Given the description of an element on the screen output the (x, y) to click on. 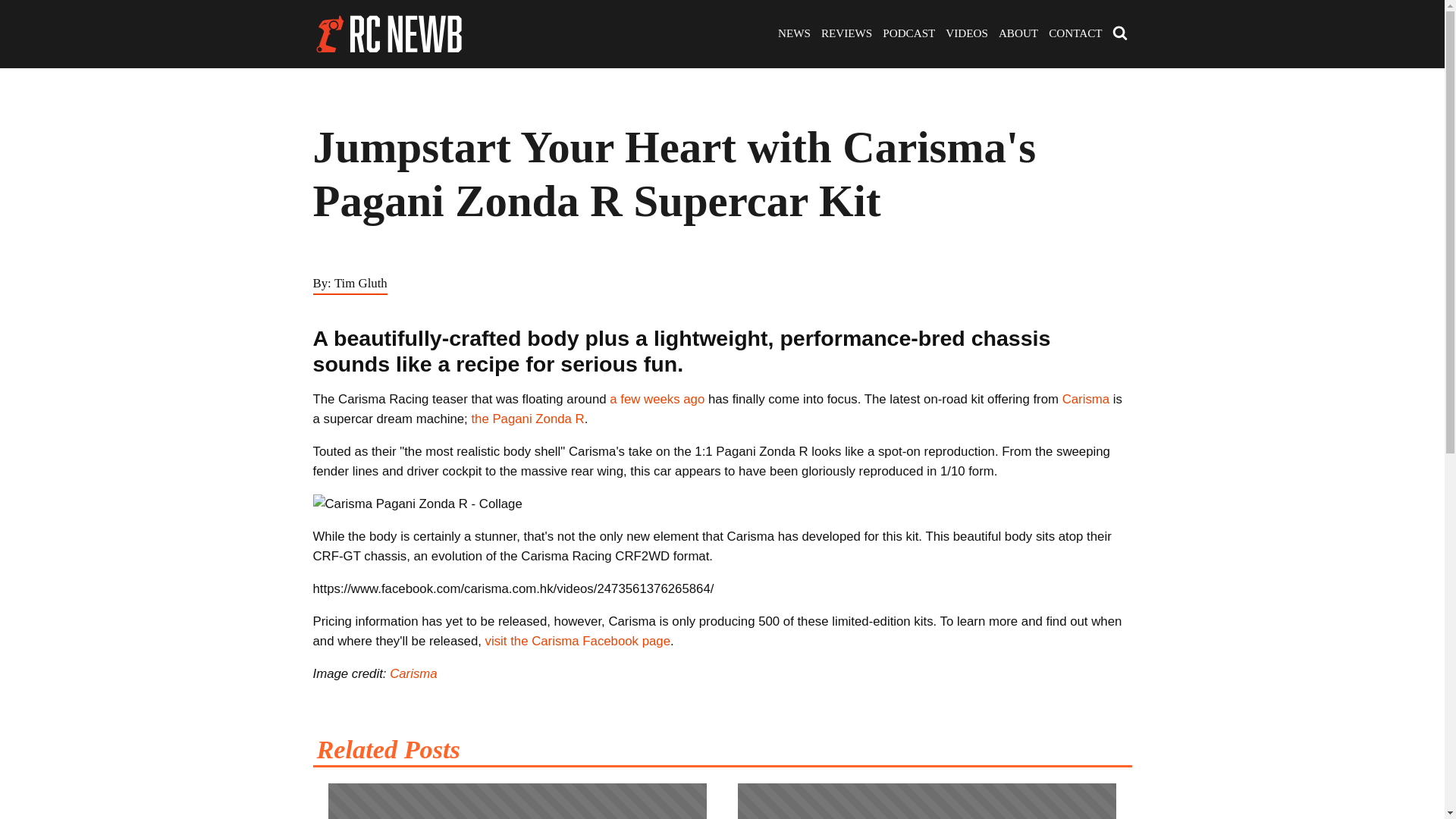
CONTACT (1075, 34)
NEWS (793, 34)
REVIEWS (846, 34)
VIDEOS (966, 34)
Carisma (413, 673)
Carisma (1085, 399)
the Pagani Zonda R (526, 418)
Cash in with Carisma's Mother's Day Sale (517, 793)
a few weeks ago (657, 399)
PODCAST (908, 34)
